Given the description of an element on the screen output the (x, y) to click on. 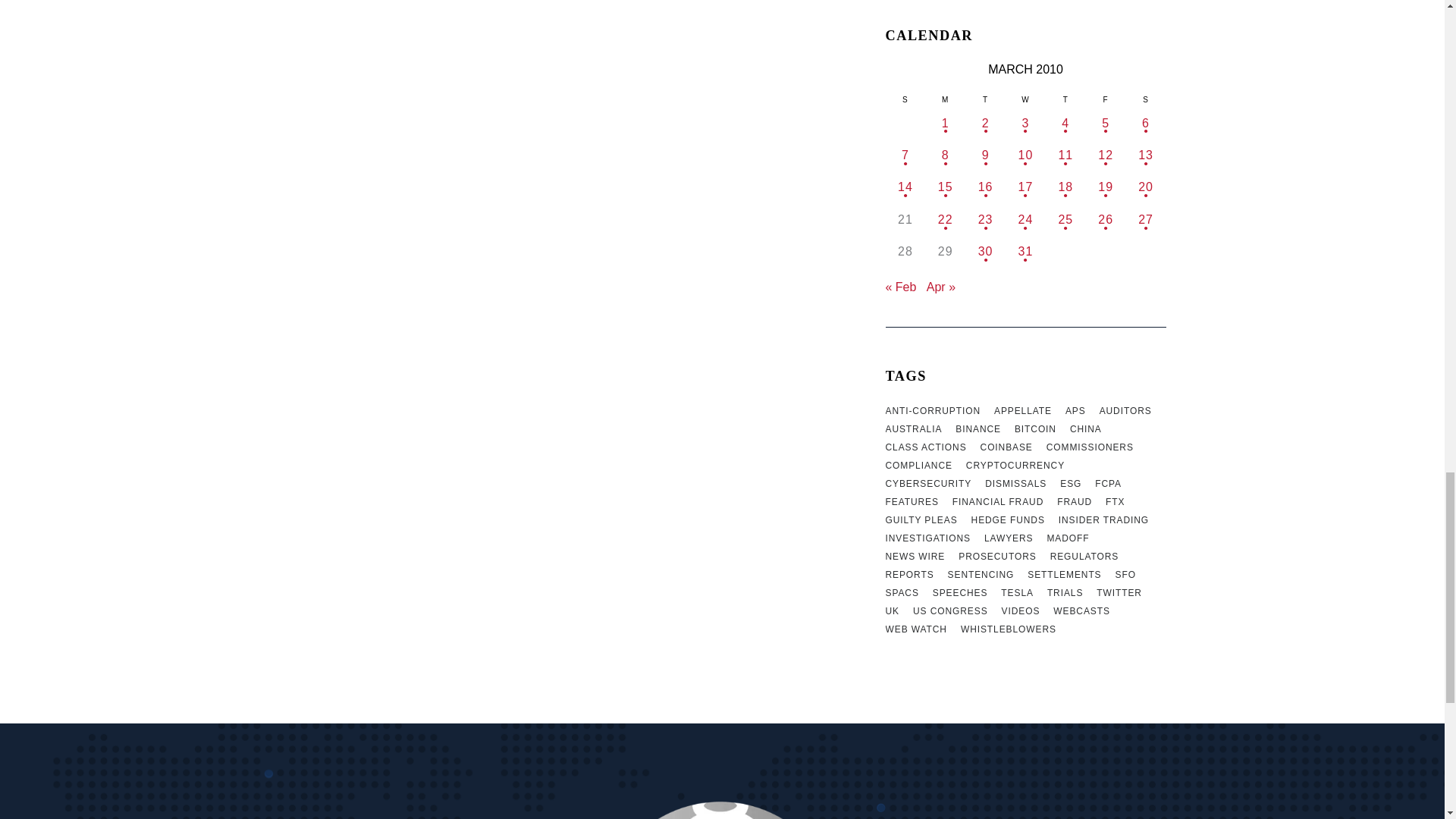
Tuesday (985, 98)
Sunday (905, 98)
Monday (944, 98)
Wednesday (1025, 98)
Saturday (1145, 98)
Friday (1105, 98)
Thursday (1065, 98)
